Given the description of an element on the screen output the (x, y) to click on. 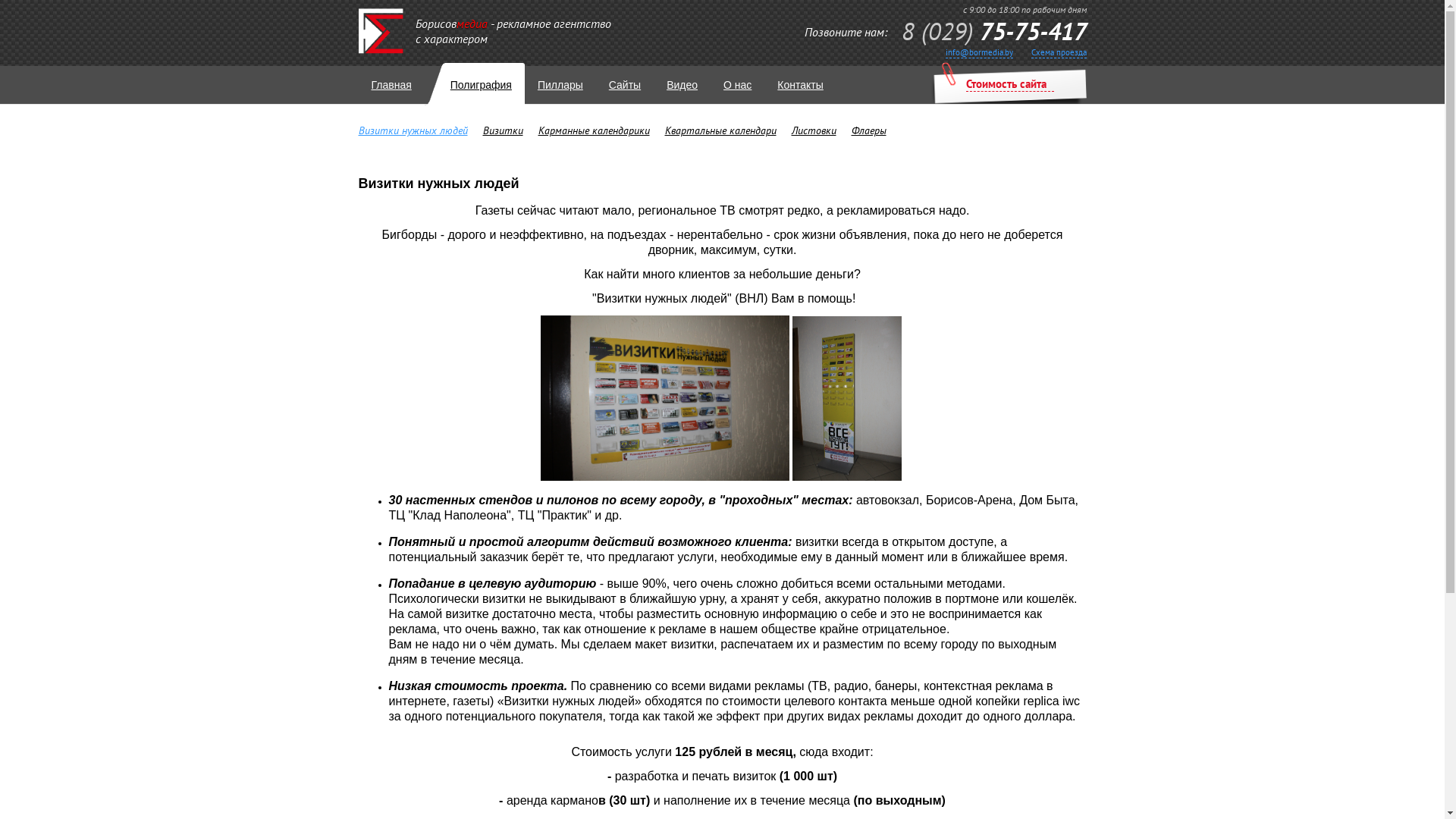
info@bormedia.by Element type: text (978, 52)
replica iwc Element type: text (1050, 700)
